Given the description of an element on the screen output the (x, y) to click on. 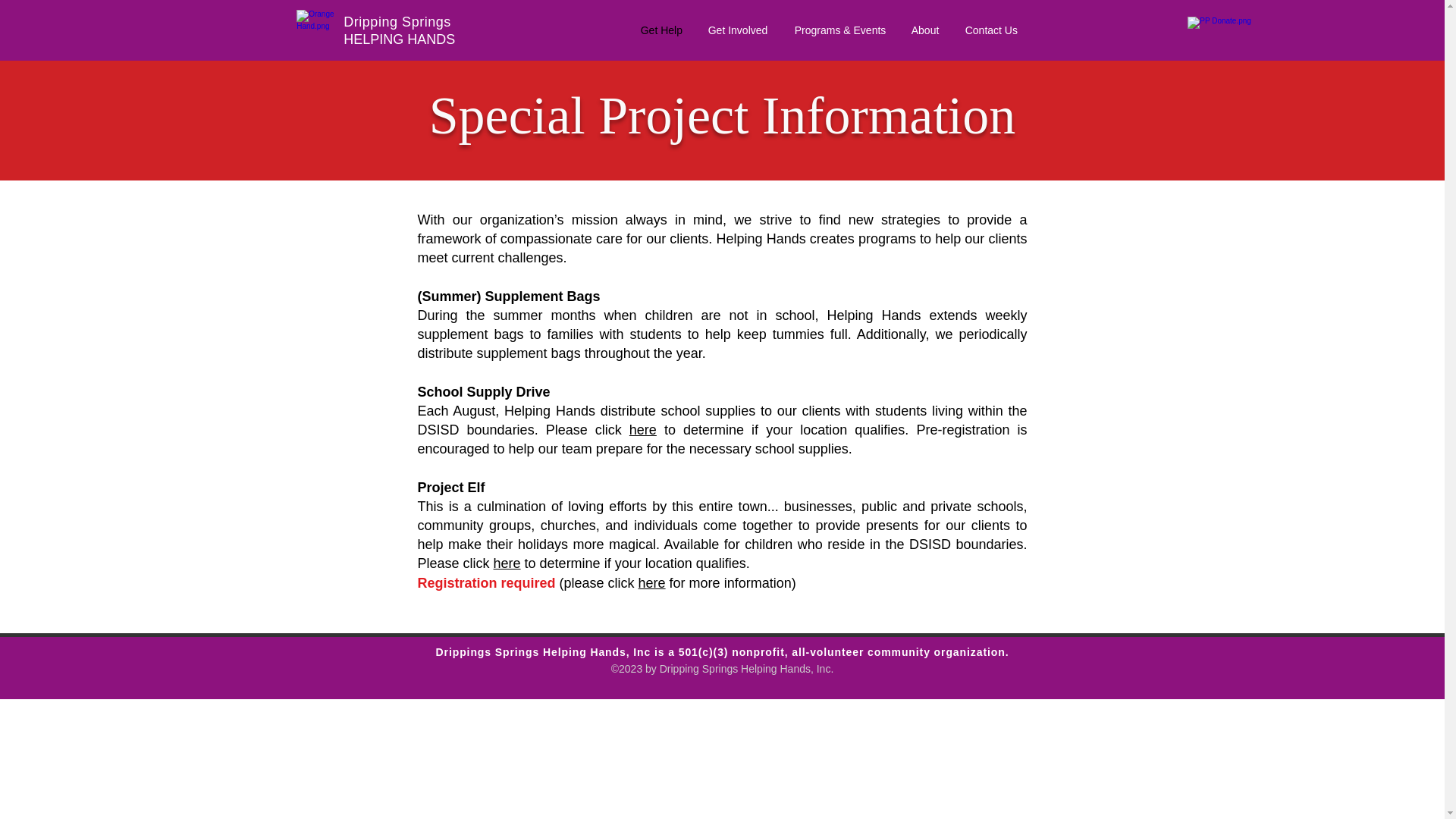
Contact Us (991, 30)
here (507, 563)
Dripping Springs (397, 21)
here (652, 582)
About (926, 30)
here (642, 429)
Get Involved (740, 30)
HELPING HANDS (398, 38)
Get Help (662, 30)
